Given the description of an element on the screen output the (x, y) to click on. 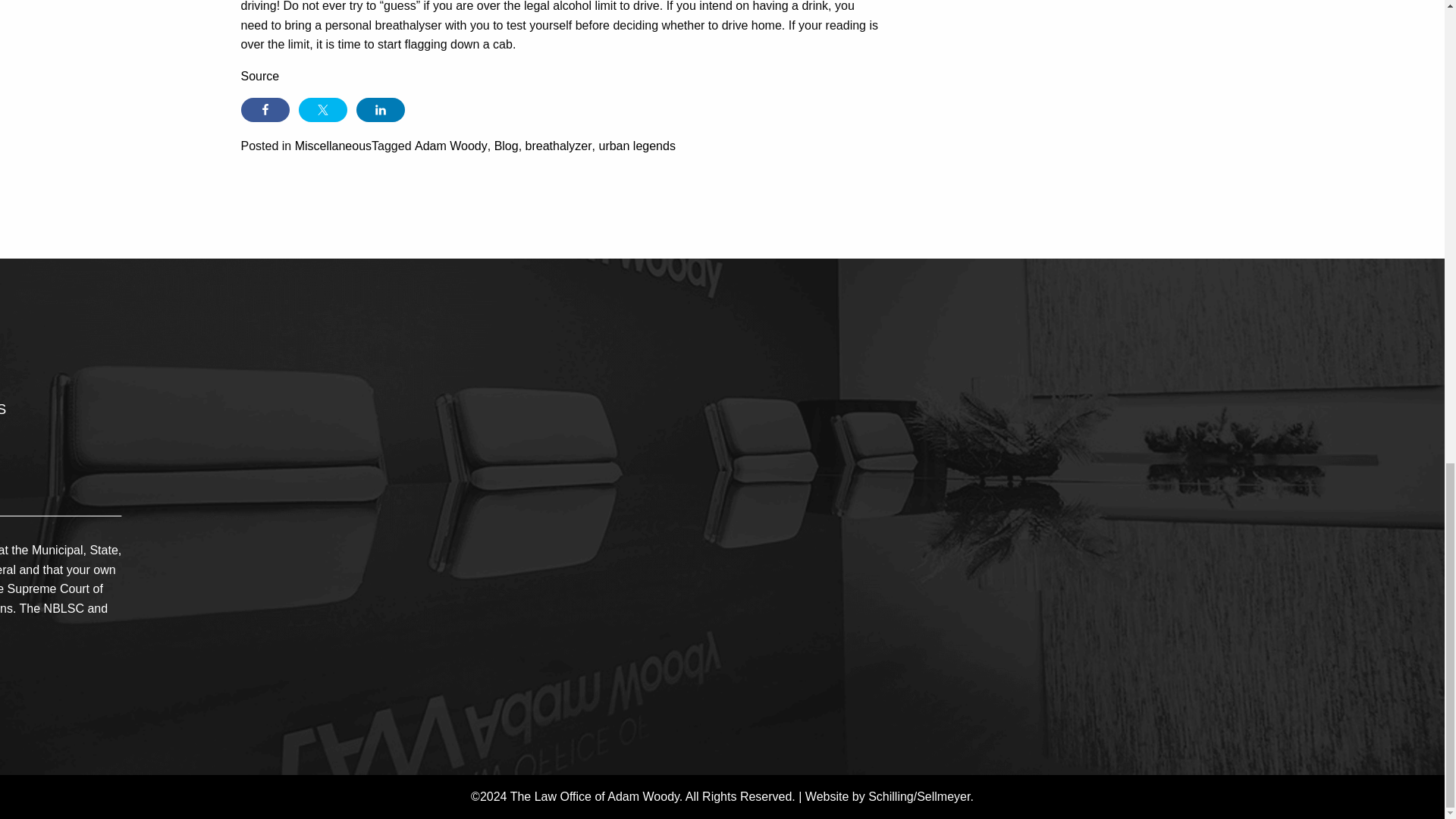
Miscellaneous (333, 145)
Share on Twitter (322, 109)
Blog (506, 145)
Share on Facebook (265, 109)
Source (260, 75)
breathalyzer (558, 145)
Adam Woody (450, 145)
Share on LinkedIn (380, 109)
urban legends (636, 145)
